Given the description of an element on the screen output the (x, y) to click on. 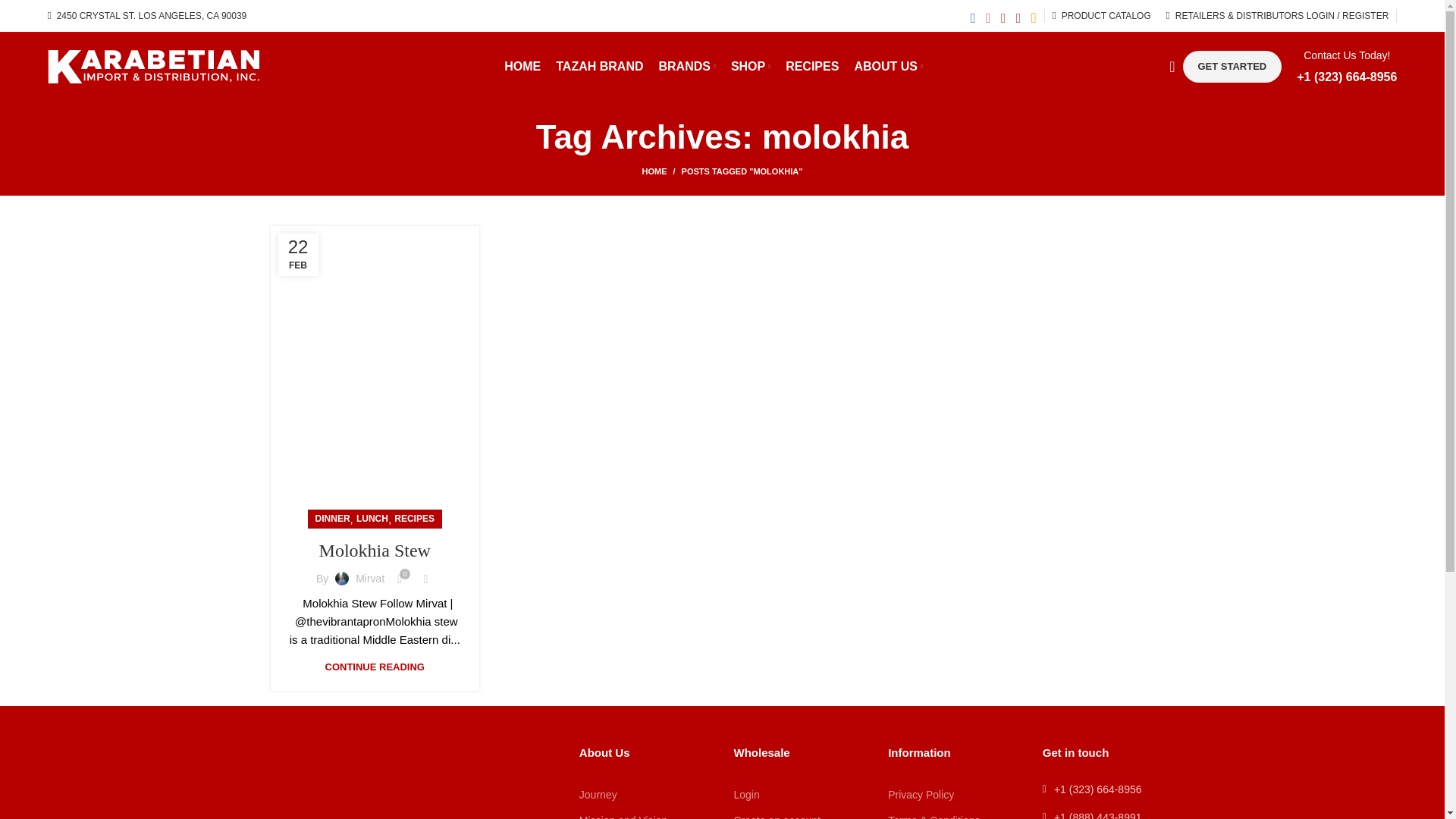
BRANDS (686, 66)
New Customer Request (798, 813)
Our Journey (645, 794)
Our Mission (645, 813)
Wholesale Login (798, 794)
TAZAH BRAND (599, 66)
2450 CRYSTAL ST. LOS ANGELES, CA 90039 (147, 15)
HOME (521, 66)
PRODUCT CATALOG (1101, 15)
